Given the description of an element on the screen output the (x, y) to click on. 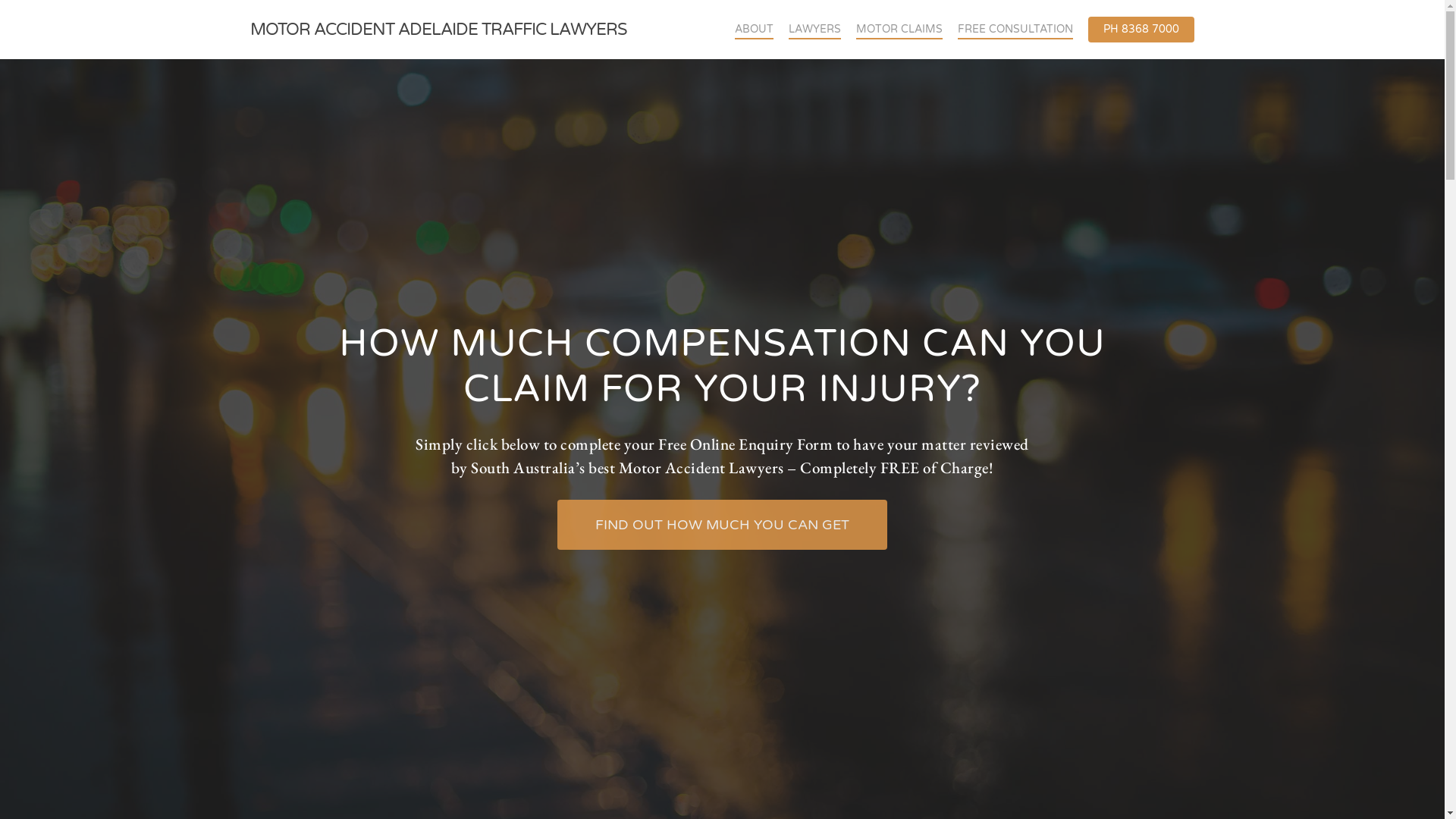
MOTOR CLAIMS Element type: text (899, 29)
PH 8368 7000 Element type: text (1141, 29)
MOTOR ACCIDENT ADELAIDE TRAFFIC LAWYERS Element type: text (438, 29)
FIND OUT HOW MUCH YOU CAN GET Element type: text (722, 524)
ABOUT Element type: text (753, 29)
LAWYERS Element type: text (814, 29)
FREE CONSULTATION Element type: text (1015, 29)
